Given the description of an element on the screen output the (x, y) to click on. 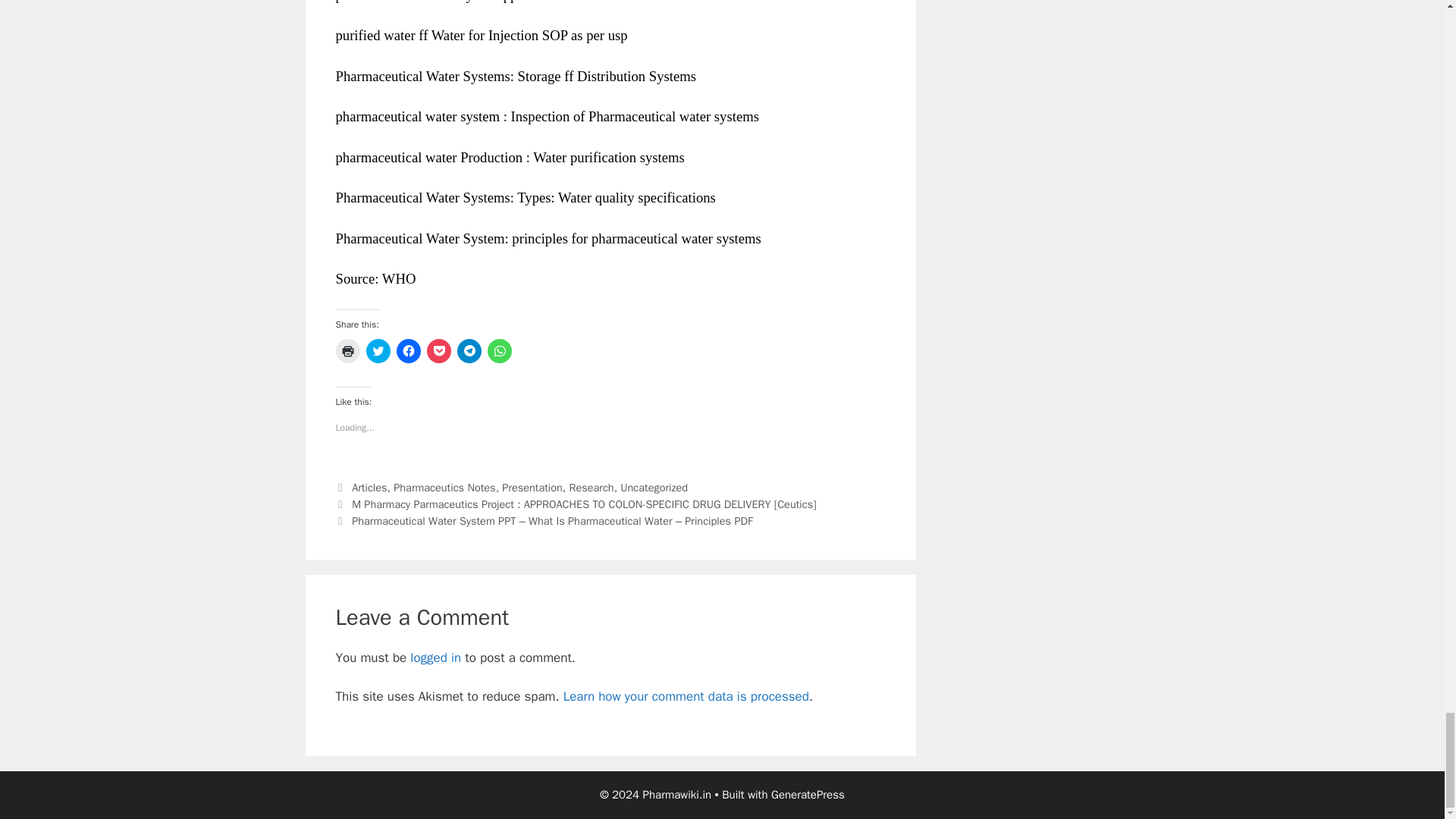
Click to share on Twitter (377, 351)
Pharmaceutics Notes (444, 487)
Click to share on Pocket (437, 351)
Click to share on Facebook (408, 351)
Articles (369, 487)
Click to print (346, 351)
Click to share on WhatsApp (498, 351)
Click to share on Telegram (468, 351)
